Given the description of an element on the screen output the (x, y) to click on. 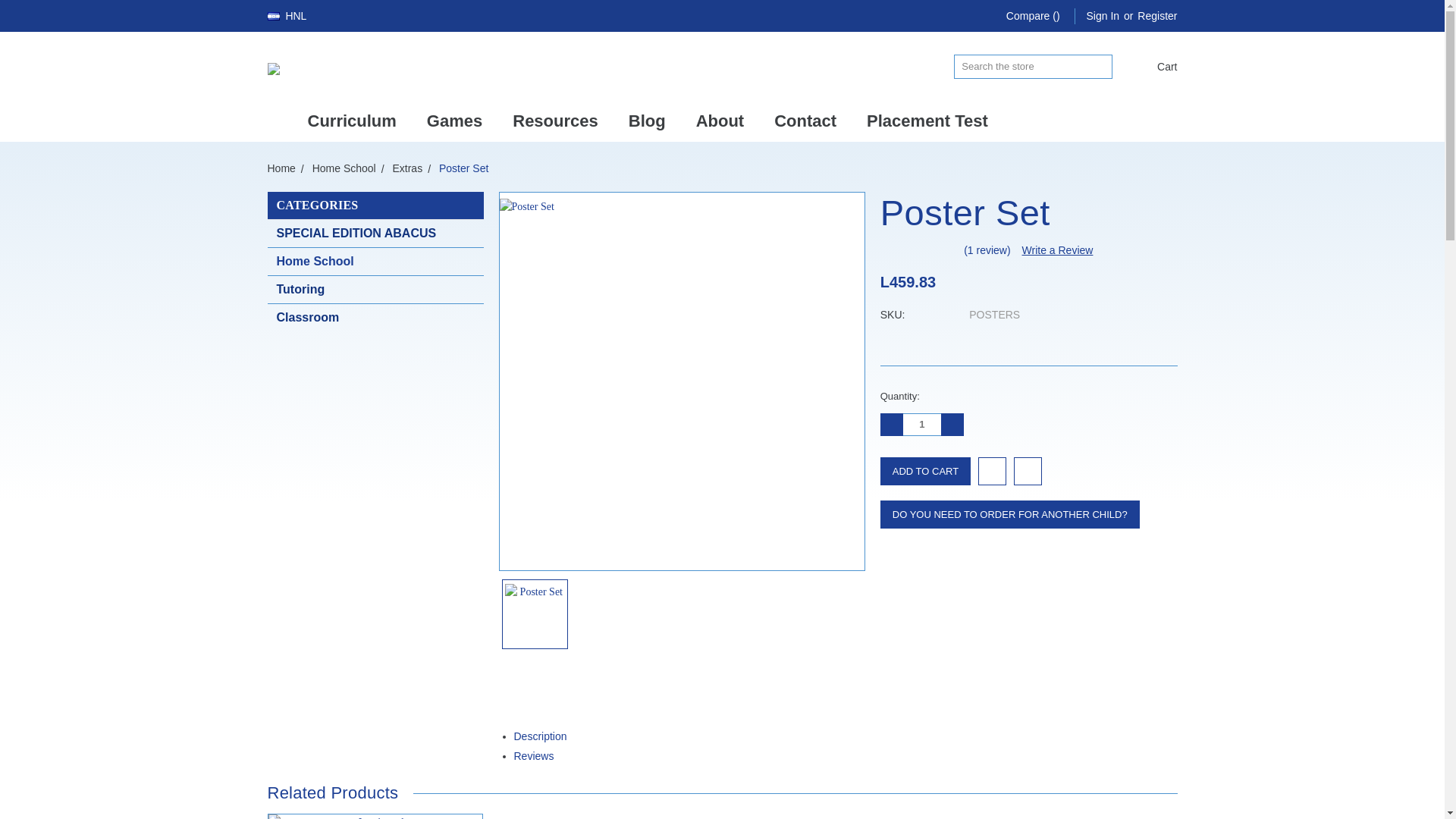
Add to Cart (925, 471)
Search (1100, 66)
Compare (1032, 16)
HNL (292, 15)
Laminated (374, 816)
Poster Set  (535, 613)
1 (921, 424)
Poster Set  (681, 381)
Search (1100, 66)
